Given the description of an element on the screen output the (x, y) to click on. 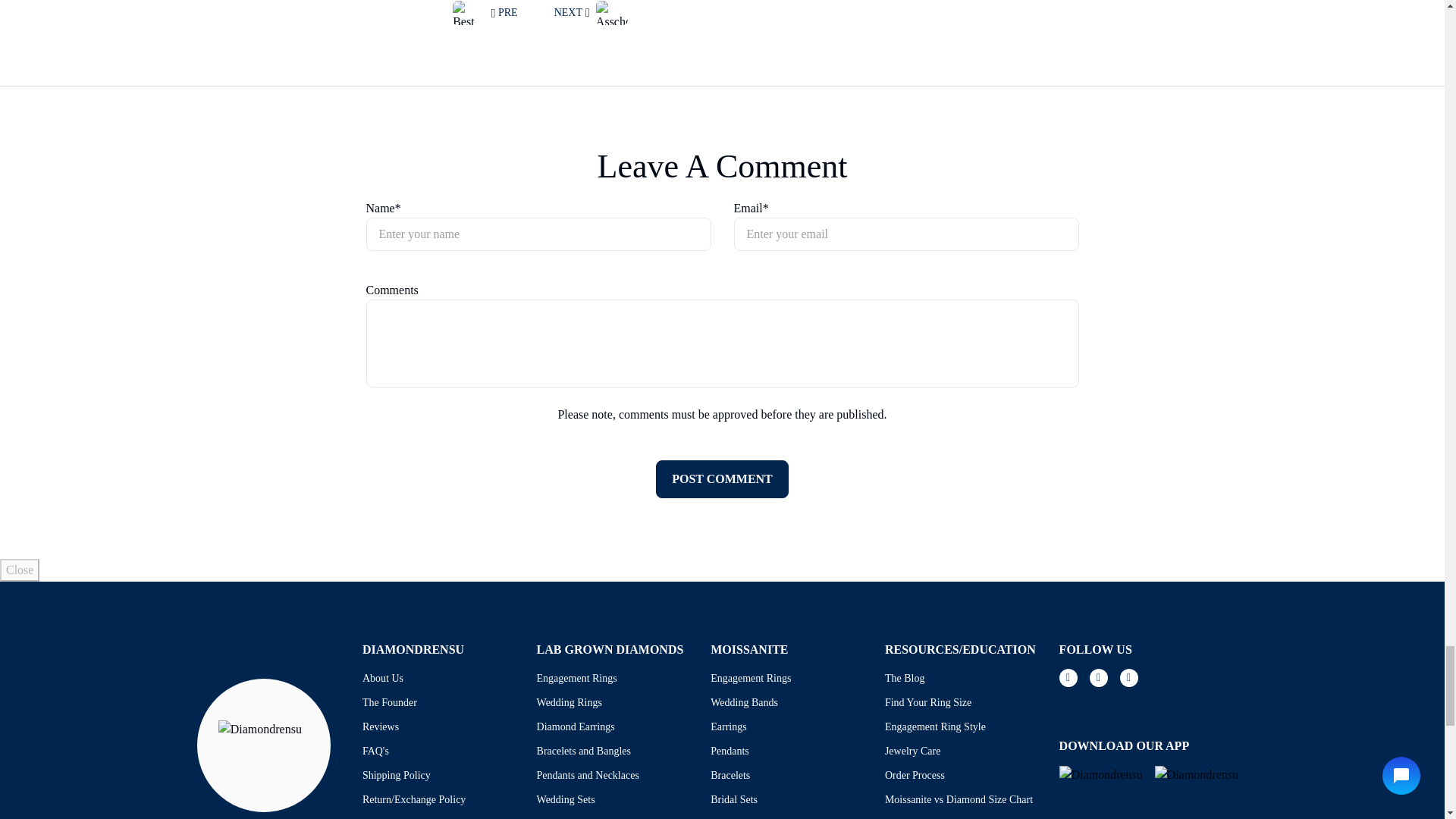
Post comment (722, 478)
